Given the description of an element on the screen output the (x, y) to click on. 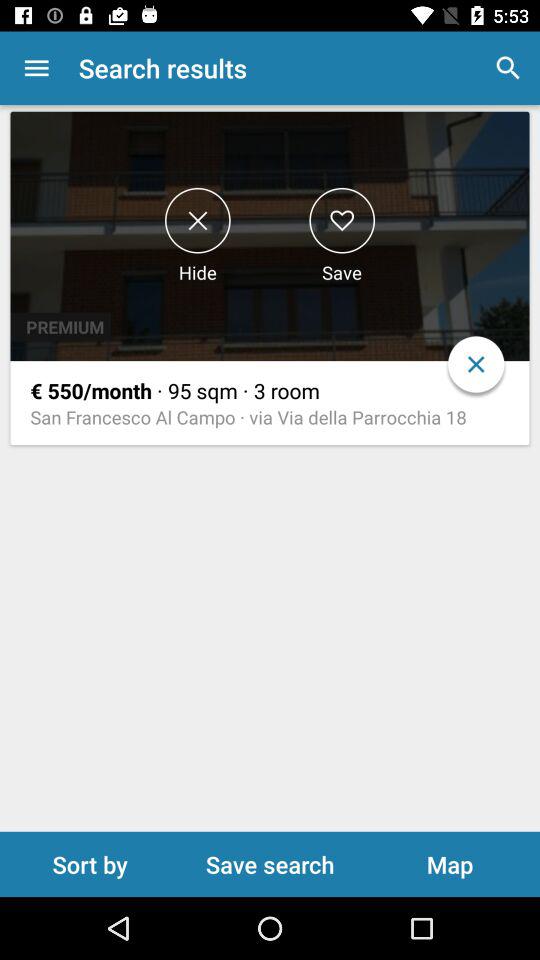
swipe to the map icon (450, 863)
